Given the description of an element on the screen output the (x, y) to click on. 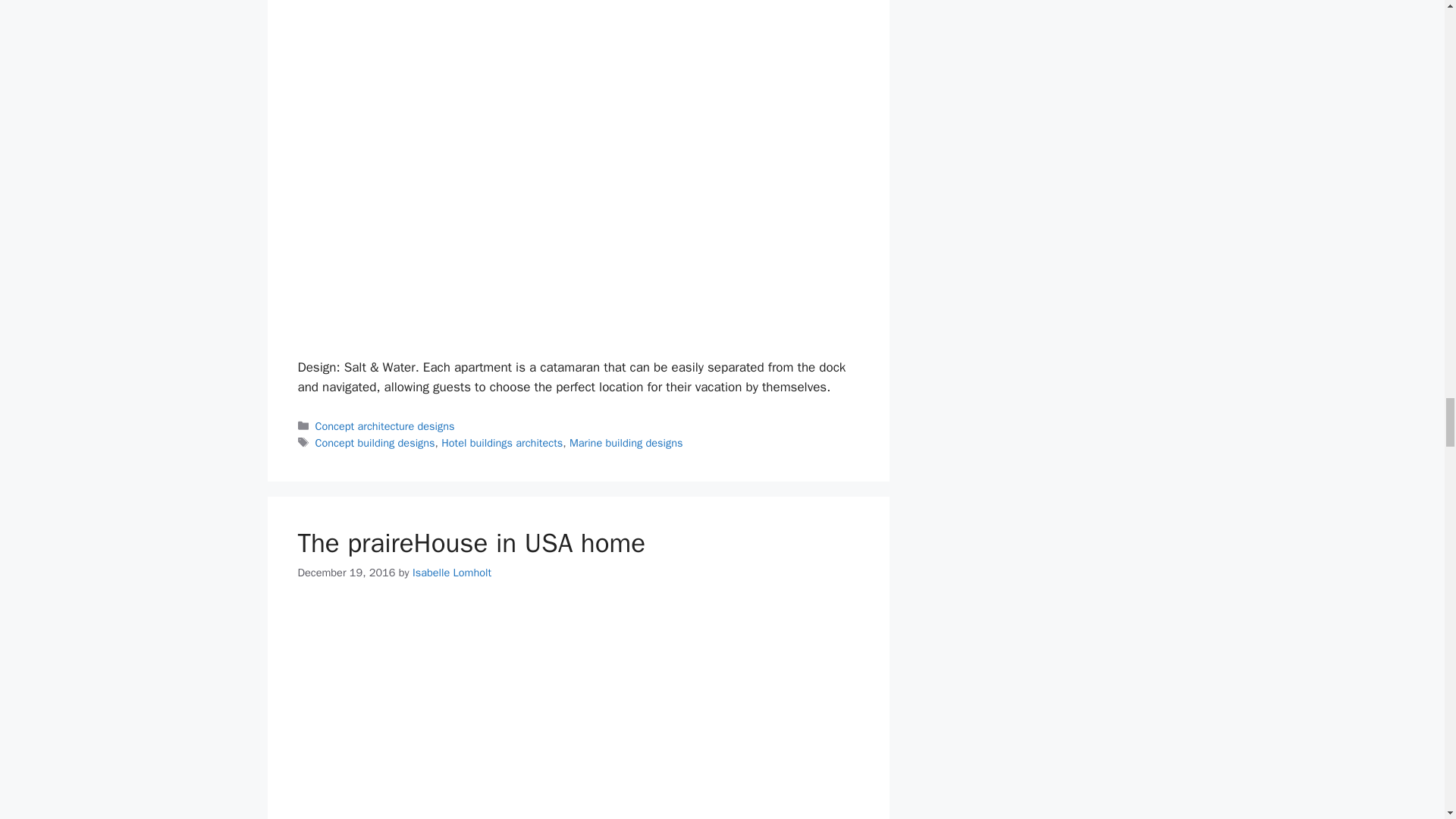
View all posts by Isabelle Lomholt (452, 572)
